Given the description of an element on the screen output the (x, y) to click on. 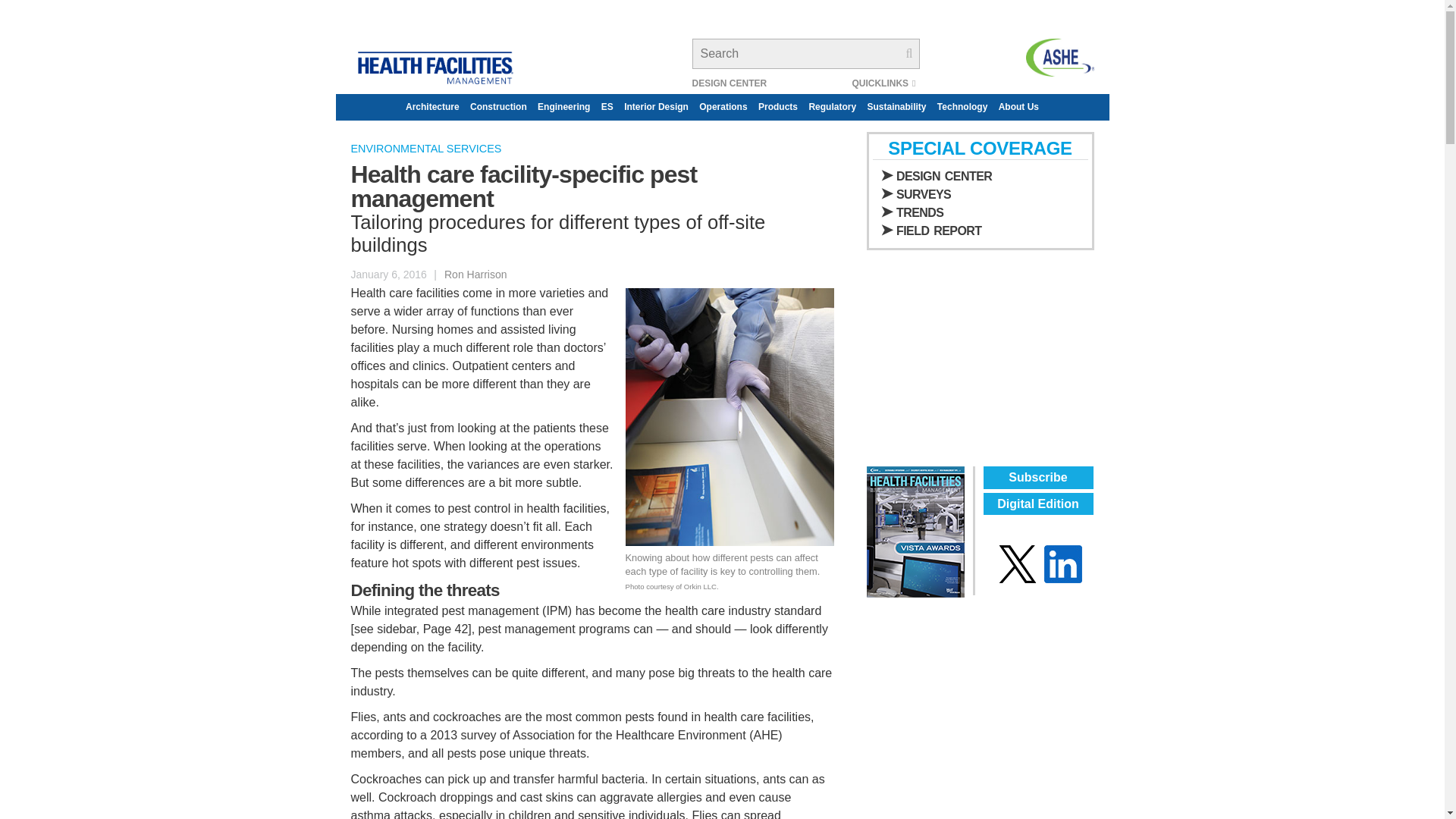
Visit American Society for Health Care Engineering (1059, 57)
